Given the description of an element on the screen output the (x, y) to click on. 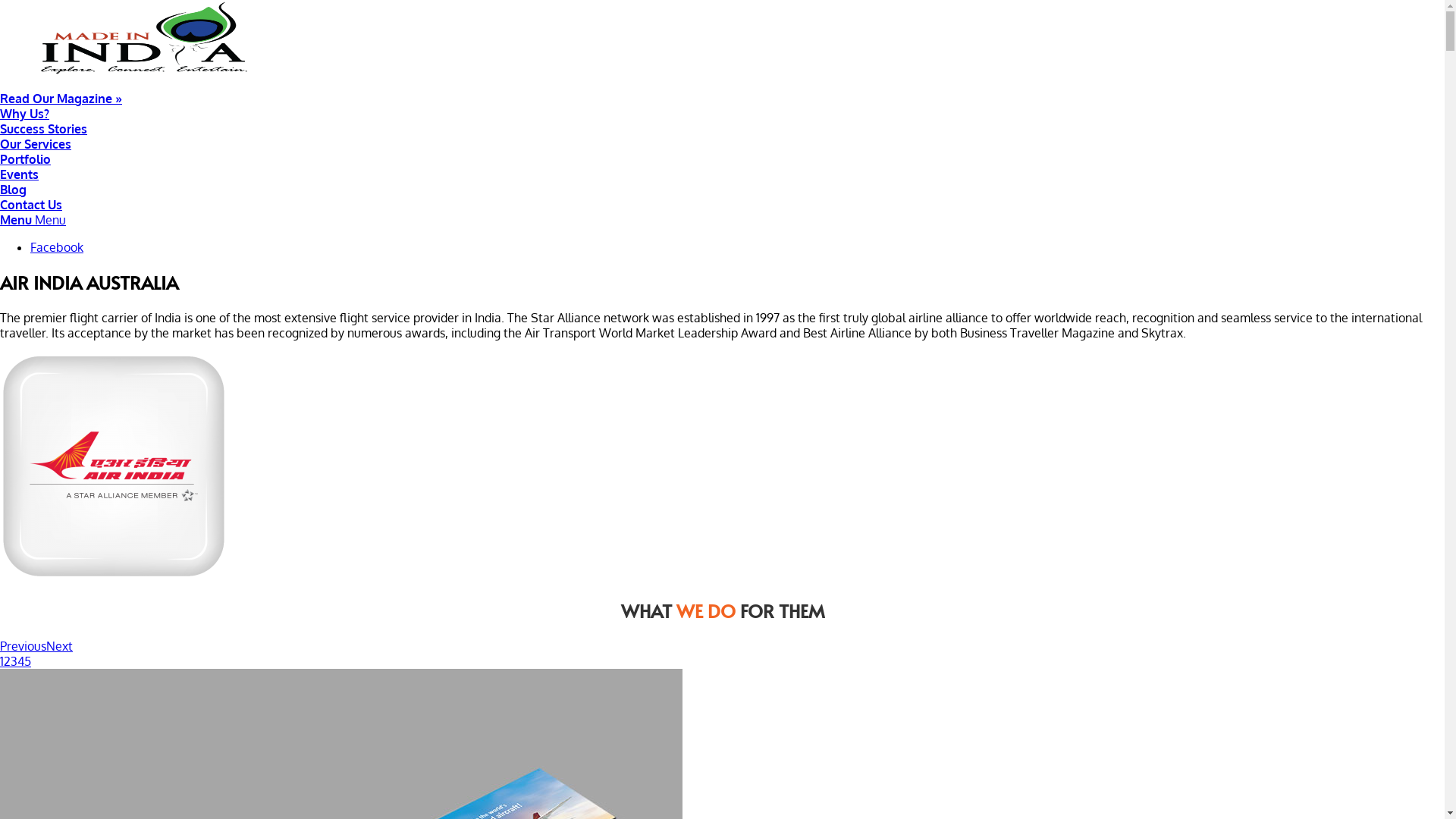
Why Us? Element type: text (722, 113)
Air India Element type: hover (113, 466)
Portfolio Element type: text (722, 158)
Events Element type: text (722, 174)
Next Element type: text (59, 645)
Contact Us Element type: text (722, 204)
Success Stories Element type: text (722, 128)
Blog Element type: text (722, 189)
4 Element type: text (20, 660)
5 Element type: text (27, 660)
Facebook Element type: text (56, 246)
Menu Menu Element type: text (32, 219)
Previous Element type: text (23, 645)
Our Services Element type: text (722, 143)
2 Element type: text (6, 660)
1 Element type: text (1, 660)
3 Element type: text (13, 660)
